Given the description of an element on the screen output the (x, y) to click on. 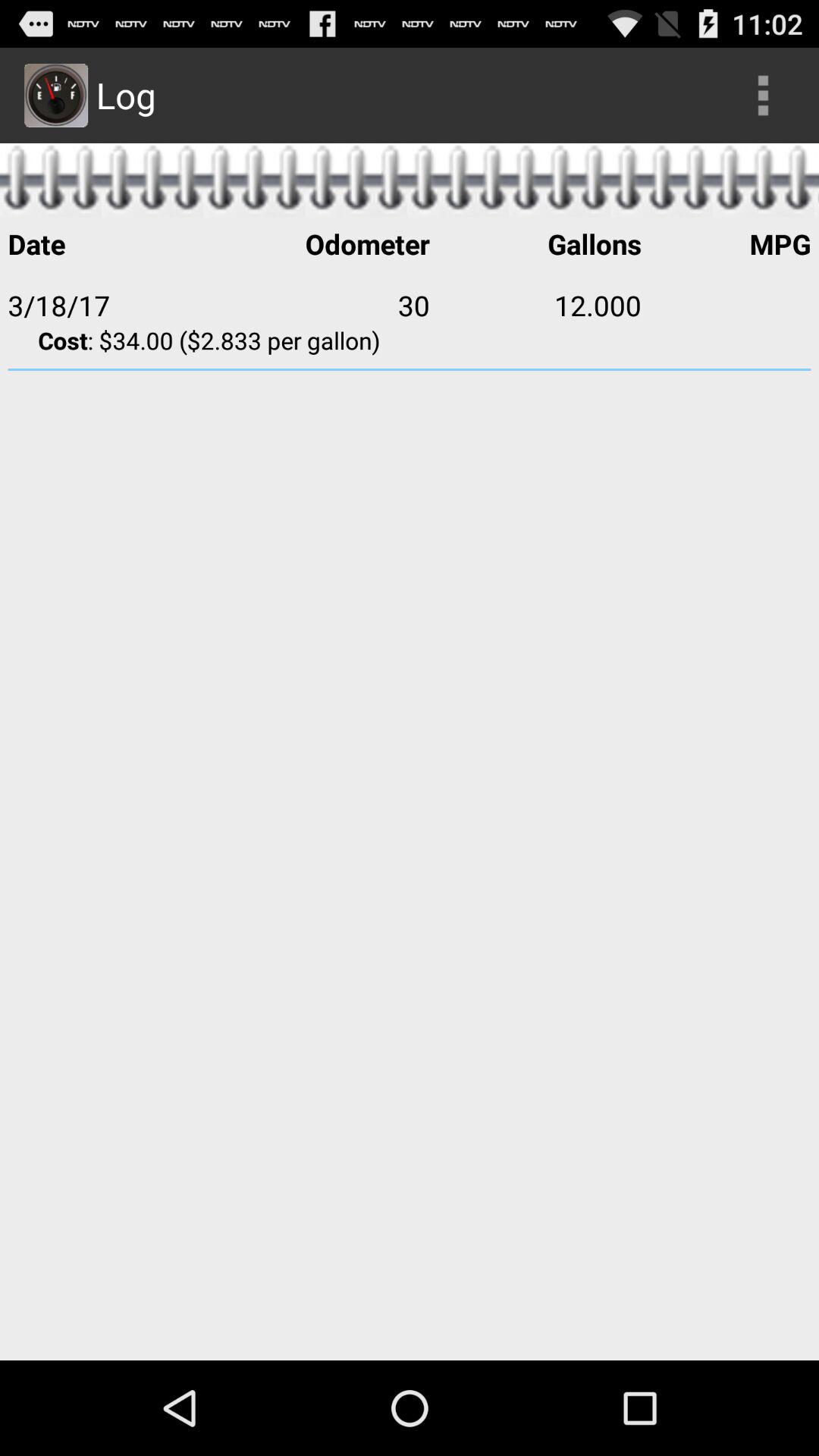
choose the item below the date item (323, 305)
